Given the description of an element on the screen output the (x, y) to click on. 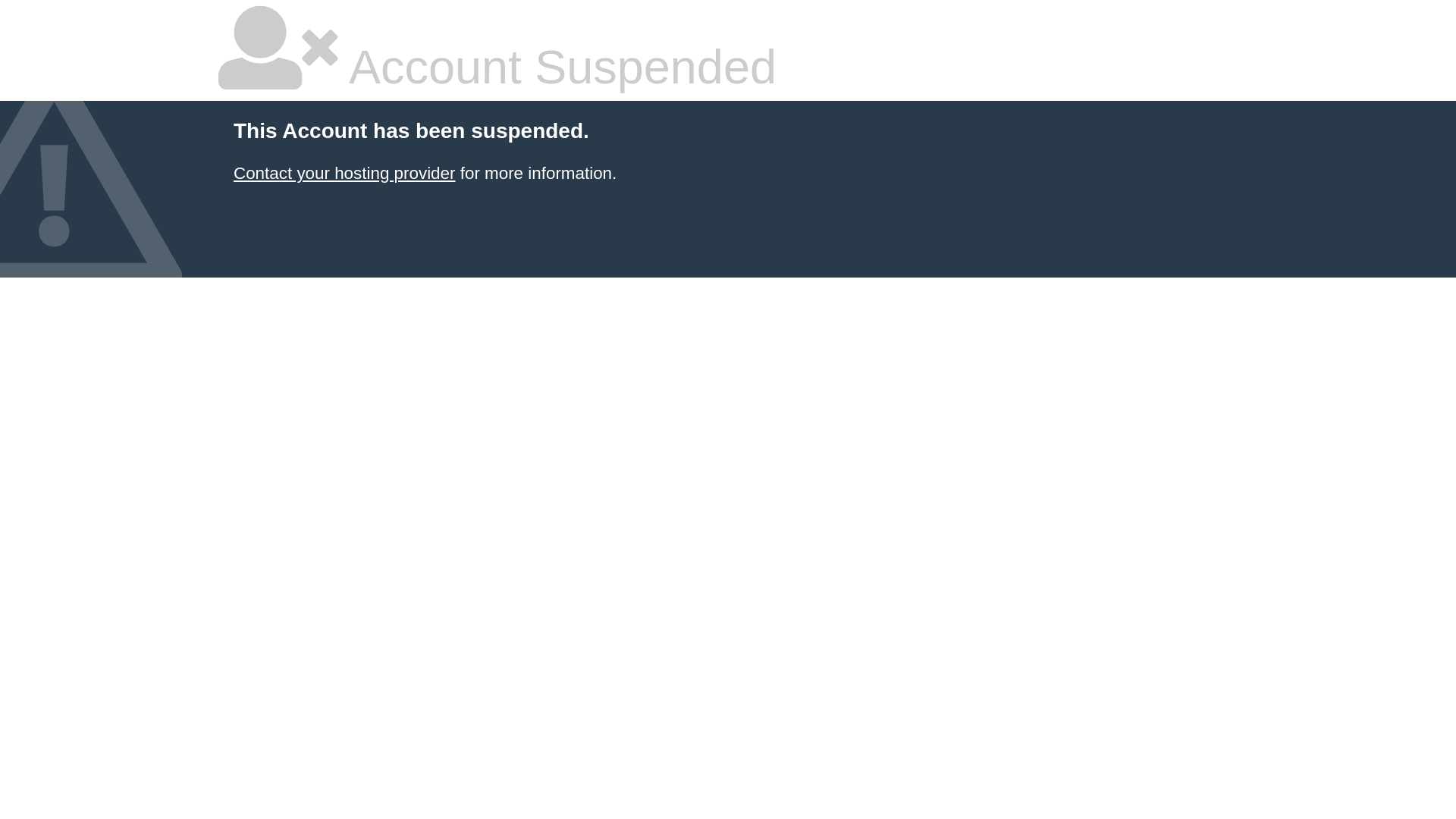
Contact your hosting provider Element type: text (344, 172)
